Given the description of an element on the screen output the (x, y) to click on. 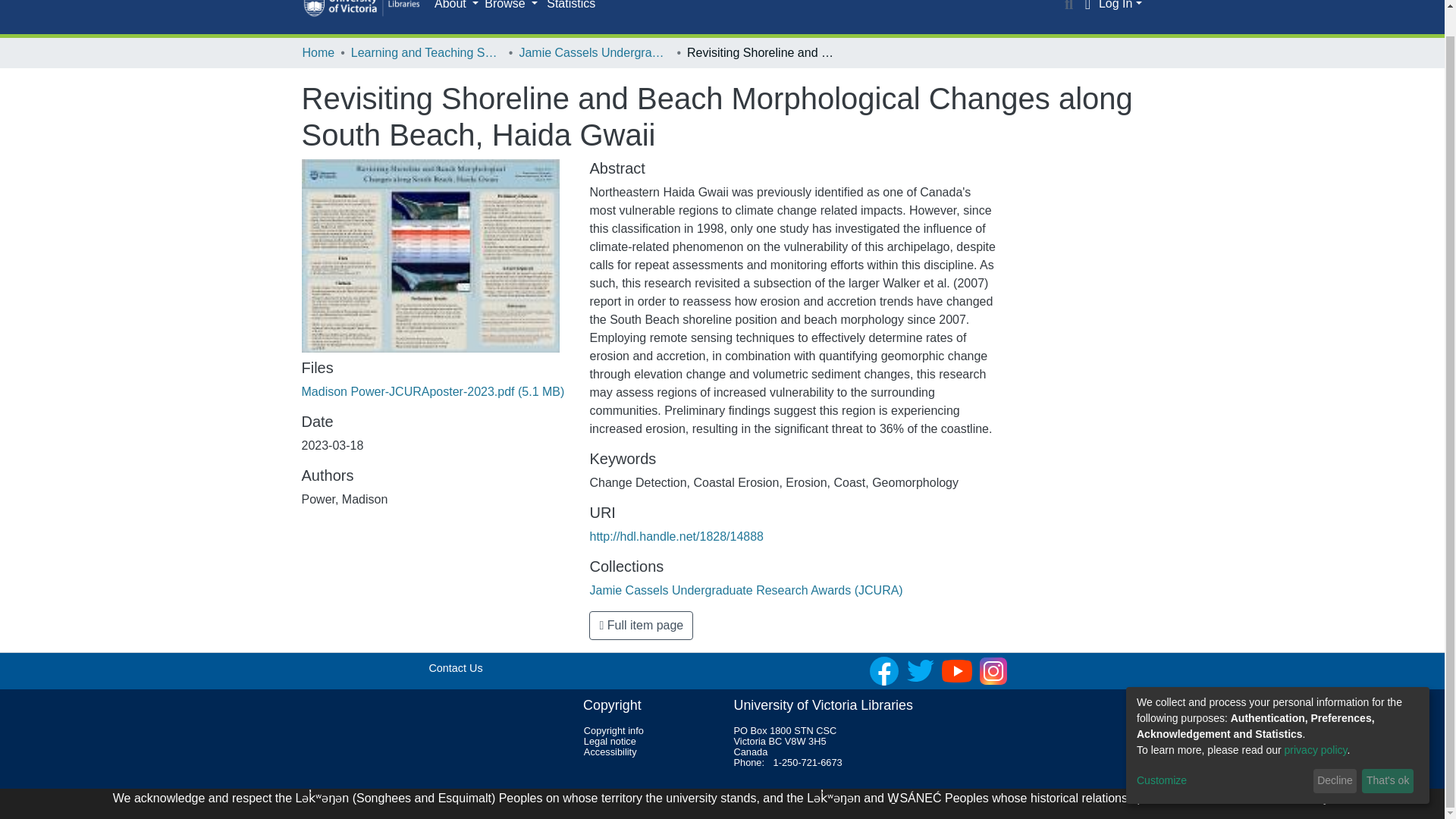
Statistics (570, 9)
Contact Us (454, 667)
Learning and Teaching Support and Innovation (426, 53)
Home (317, 53)
Browse (510, 6)
Statistics (570, 9)
About (455, 6)
Language switch (1087, 6)
Log In (1119, 4)
Full item page (641, 624)
